Given the description of an element on the screen output the (x, y) to click on. 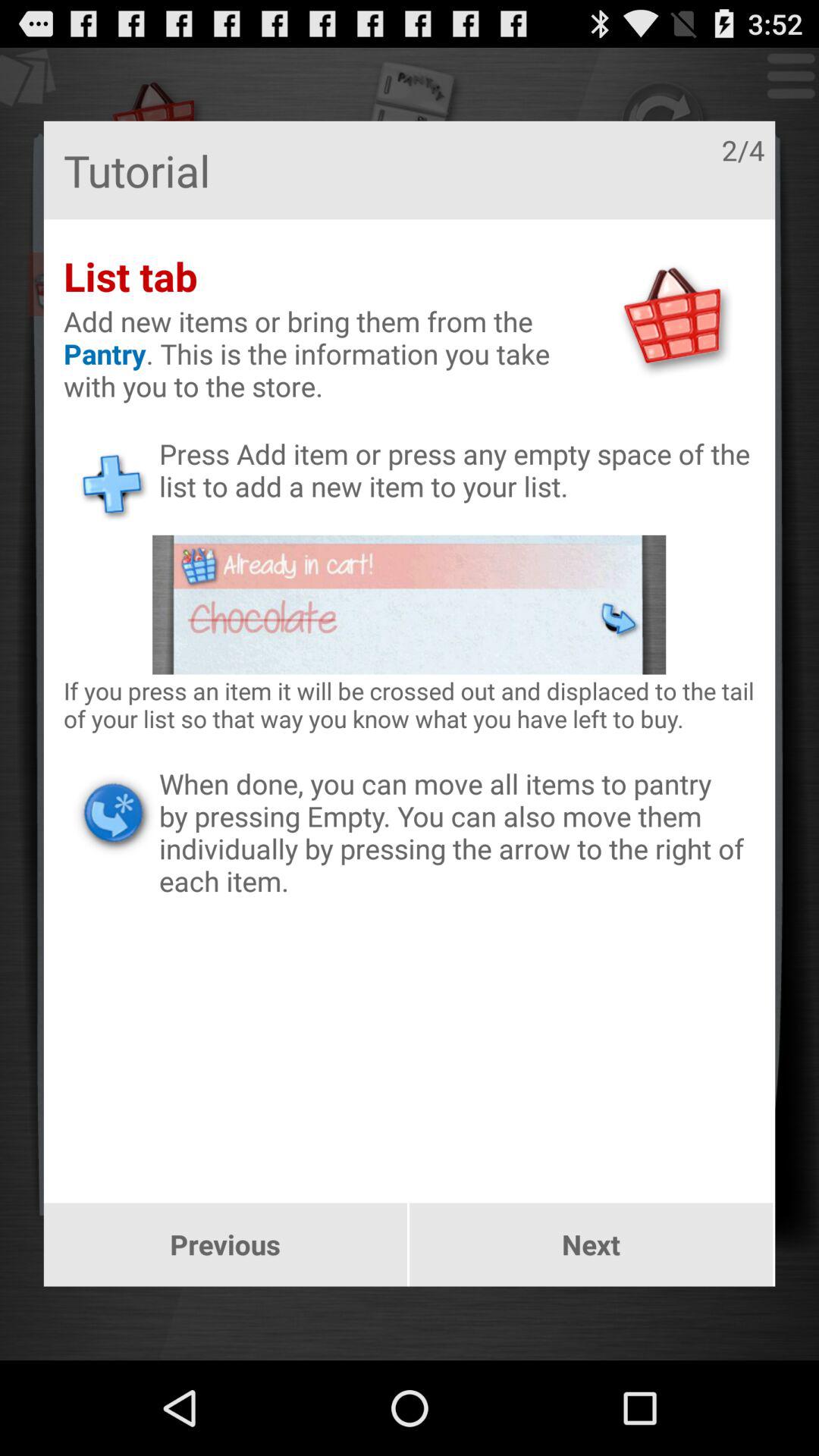
scroll to the next item (590, 1244)
